Given the description of an element on the screen output the (x, y) to click on. 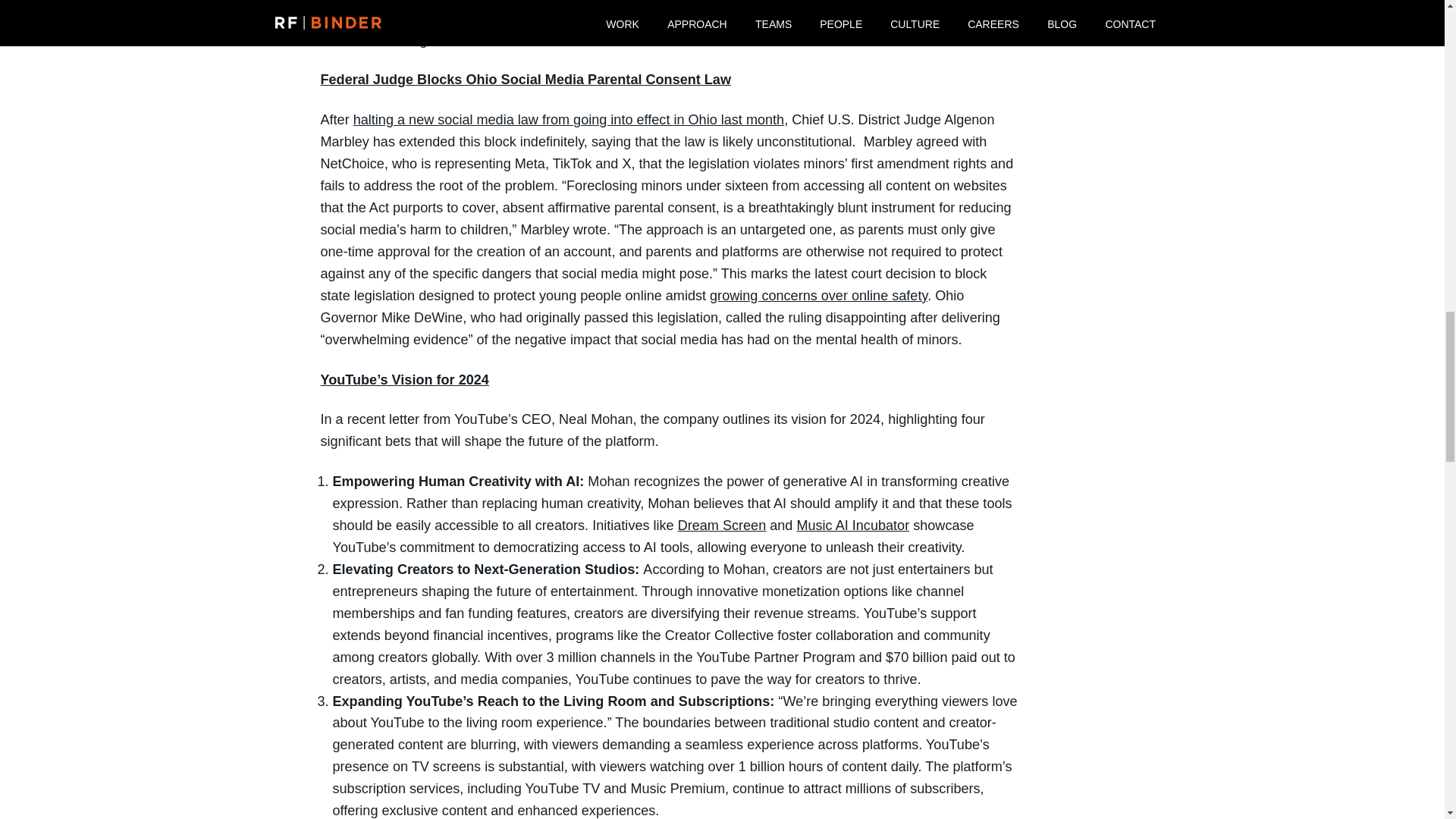
Dream Screen (722, 525)
Music AI Incubator (852, 525)
growing concerns over online safety (818, 295)
Federal Judge Blocks Ohio Social Media Parental Consent Law (525, 79)
